Given the description of an element on the screen output the (x, y) to click on. 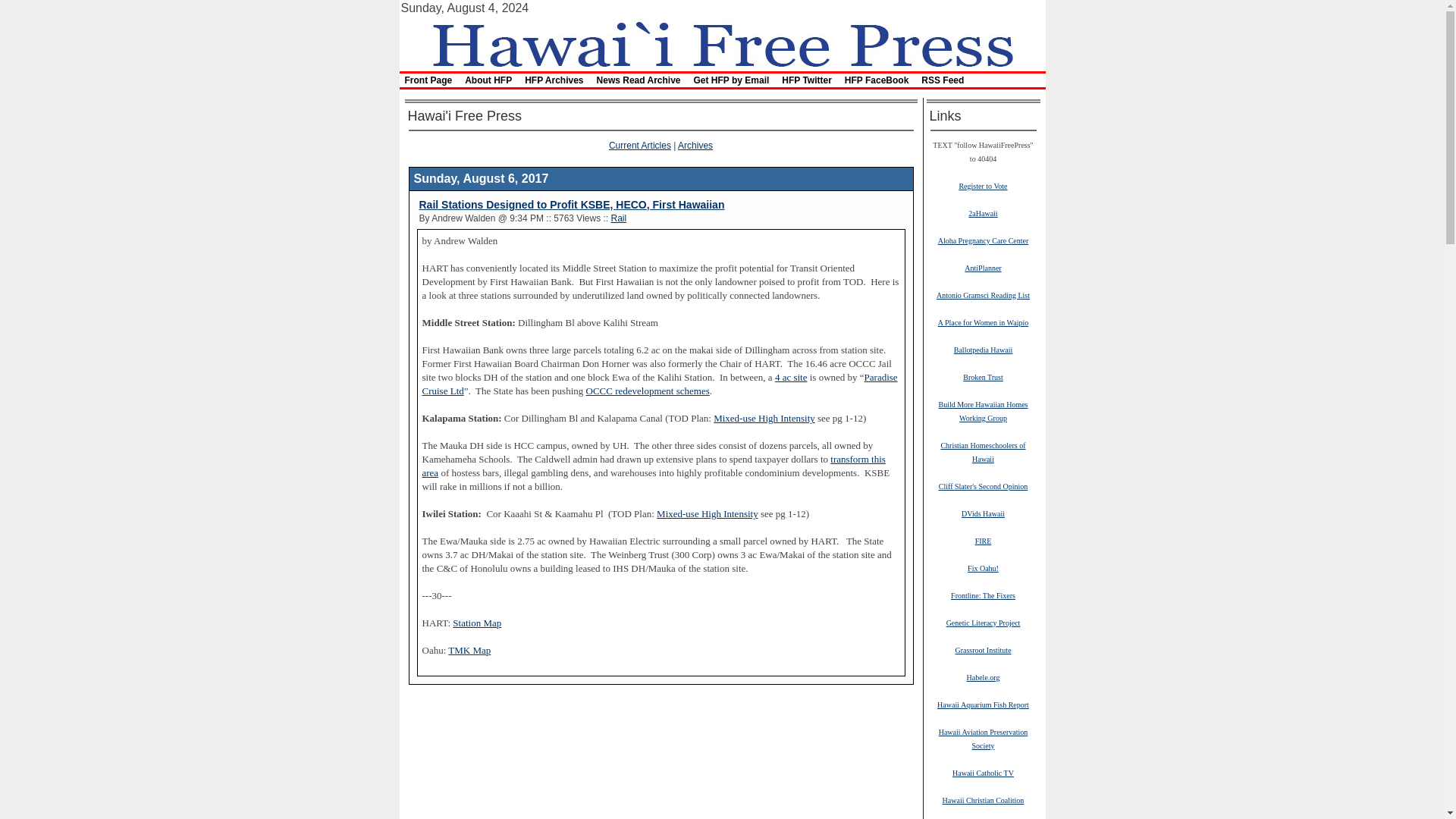
Paradise Cruise Ltd (659, 384)
Build More Hawaiian Homes Working Group (982, 410)
Archives (695, 145)
A Place for Women in Waipio (982, 321)
4 ac site (791, 377)
Habele.org (983, 676)
Mixed-use High Intensity (707, 513)
Cliff Slater's Second Opinion (983, 485)
AntiPlanner (982, 267)
Rail (618, 217)
